Given the description of an element on the screen output the (x, y) to click on. 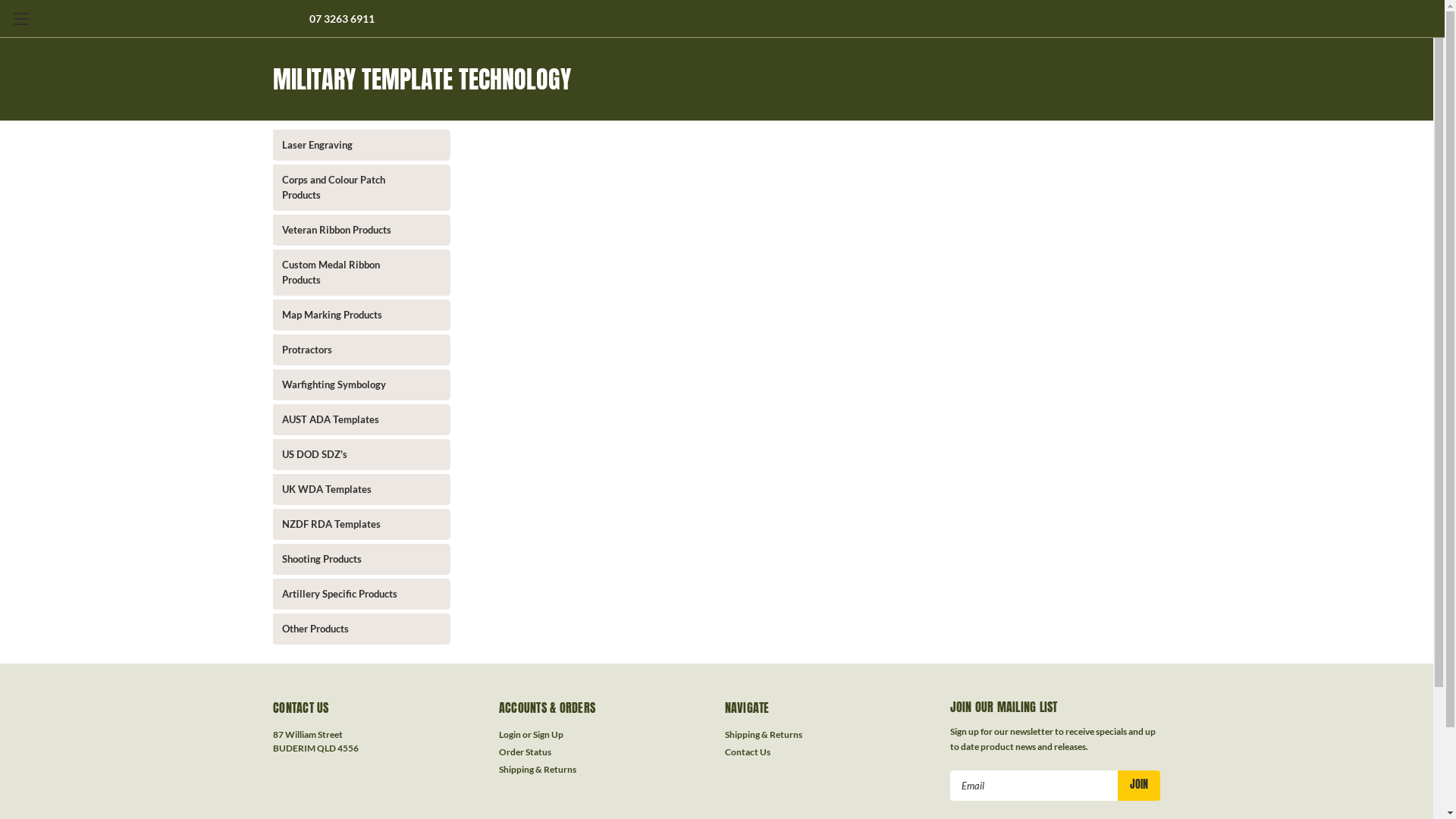
Sign Up Element type: text (548, 734)
NZDF RDA Templates Element type: text (348, 523)
Login Element type: text (509, 734)
Protractors Element type: text (348, 349)
Artillery Specific Products Element type: text (348, 593)
Other Products Element type: text (348, 628)
Shooting Products Element type: text (348, 558)
Corps and Colour Patch Products Element type: text (348, 187)
Warfighting Symbology Element type: text (348, 384)
US DOD SDZ's Element type: text (348, 454)
Laser Engraving Element type: text (348, 144)
UK WDA Templates Element type: text (348, 488)
Order Status Element type: text (524, 752)
07 3263 6911 Element type: text (341, 18)
Map Marking Products Element type: text (348, 314)
Join Element type: text (1138, 785)
AUST ADA Templates Element type: text (348, 419)
Shipping & Returns Element type: text (537, 769)
Custom Medal Ribbon Products Element type: text (348, 271)
Shipping & Returns Element type: text (763, 734)
Veteran Ribbon Products Element type: text (348, 229)
Contact Us Element type: text (747, 752)
MILITARY TEMPLATE TECHNOLOGY Element type: text (716, 78)
